Given the description of an element on the screen output the (x, y) to click on. 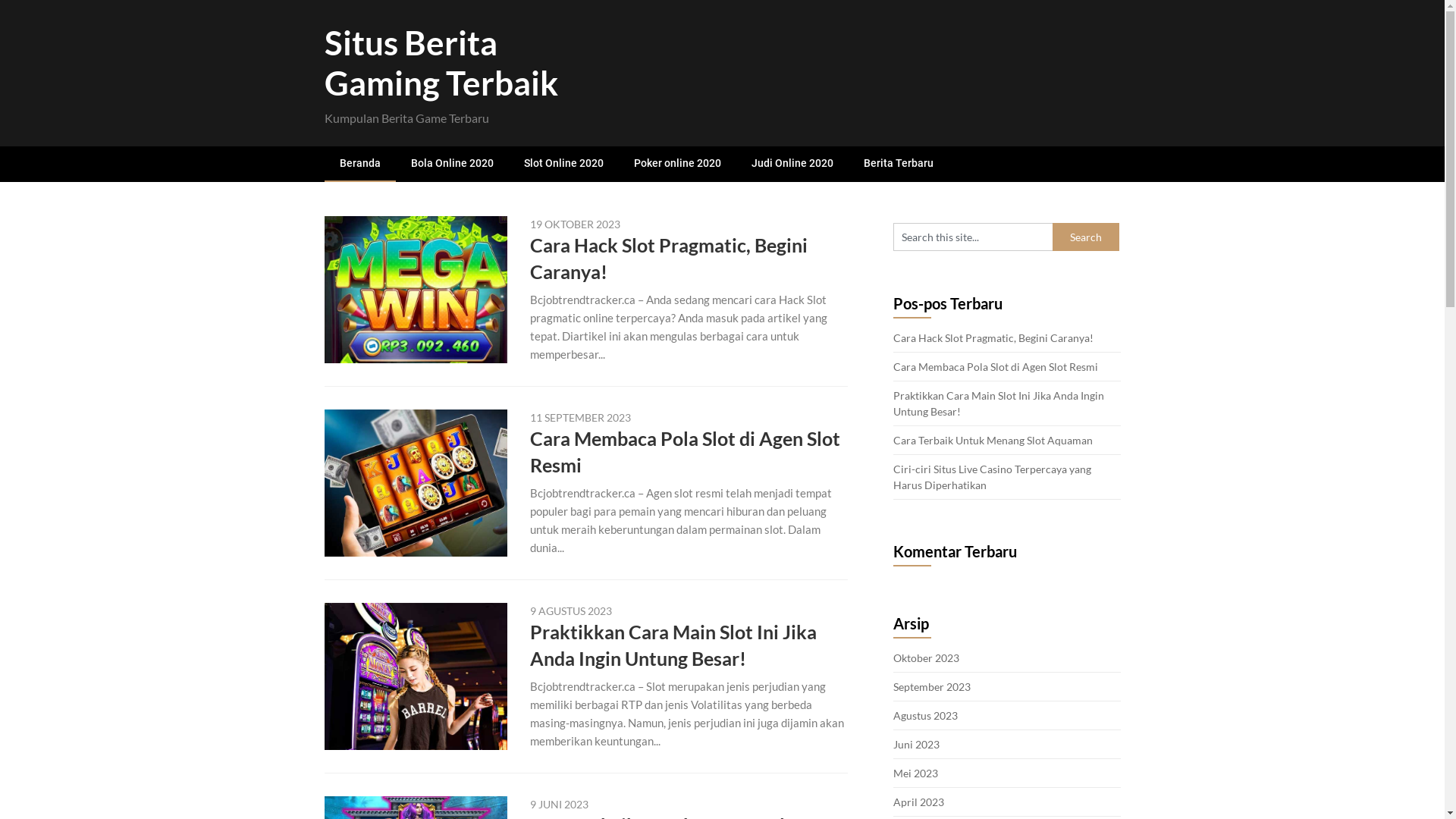
Situs Berita Gaming Terbaik Element type: text (441, 62)
Cara Membaca Pola Slot di Agen Slot Resmi Element type: text (685, 451)
April 2023 Element type: text (918, 801)
Slot Online 2020 Element type: text (563, 163)
Bola Online 2020 Element type: text (451, 163)
Berita Terbaru Element type: text (897, 163)
Skip to content Element type: text (0, 0)
Praktikkan Cara Main Slot Ini Jika Anda Ingin Untung Besar! Element type: text (998, 403)
Judi Online 2020 Element type: text (791, 163)
September 2023 Element type: text (931, 686)
Agustus 2023 Element type: text (925, 715)
Poker online 2020 Element type: text (677, 163)
Cara Hack Slot Pragmatic, Begini Caranya! Element type: text (993, 337)
Mei 2023 Element type: text (915, 772)
Juni 2023 Element type: text (916, 743)
Cara Hack Slot Pragmatic, Begini Caranya! Element type: text (668, 257)
Search Element type: text (1086, 236)
Praktikkan Cara Main Slot Ini Jika Anda Ingin Untung Besar! Element type: text (673, 644)
Oktober 2023 Element type: text (926, 657)
Beranda Element type: text (359, 164)
Cara Terbaik Untuk Menang Slot Aquaman  Element type: text (994, 439)
Cara Membaca Pola Slot di Agen Slot Resmi Element type: text (995, 366)
